Given the description of an element on the screen output the (x, y) to click on. 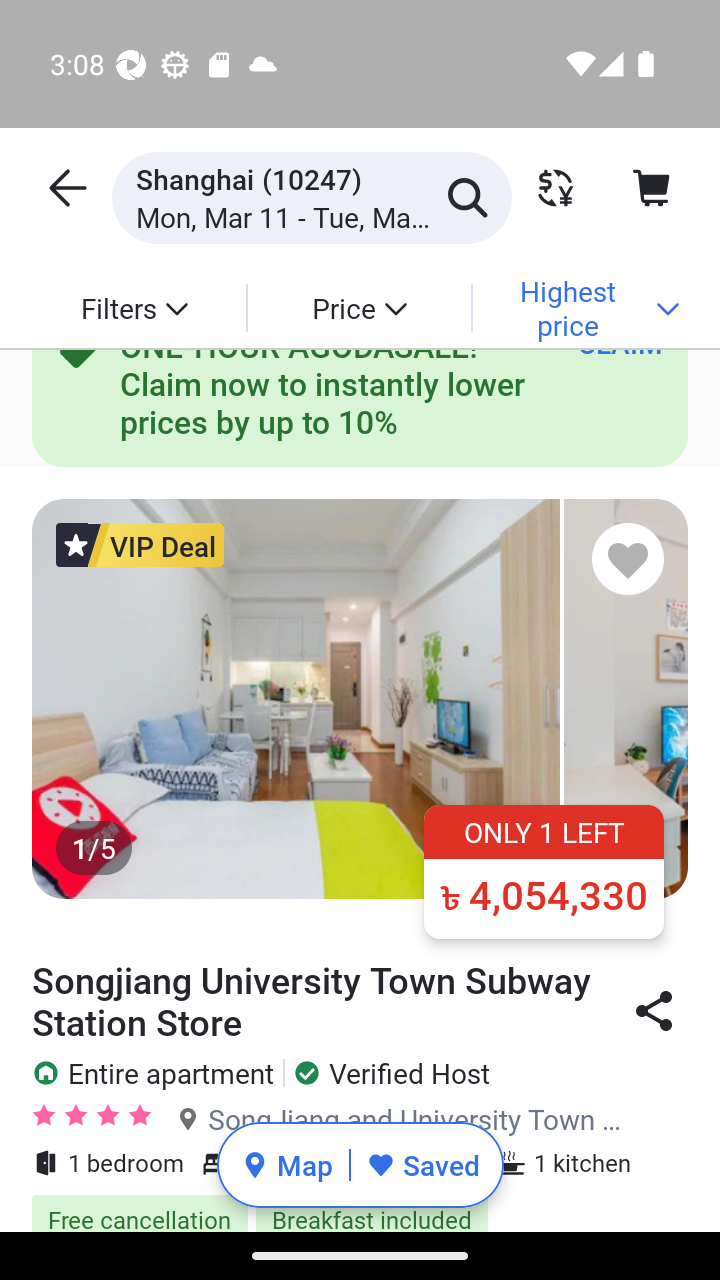
Filters (134, 307)
Price (358, 307)
Highest price (584, 307)
VIP Deal (139, 544)
1/5 (359, 698)
ONLY 1 LEFT ‪৳ 4,054,330 (543, 872)
Map Saved (359, 1165)
